Given the description of an element on the screen output the (x, y) to click on. 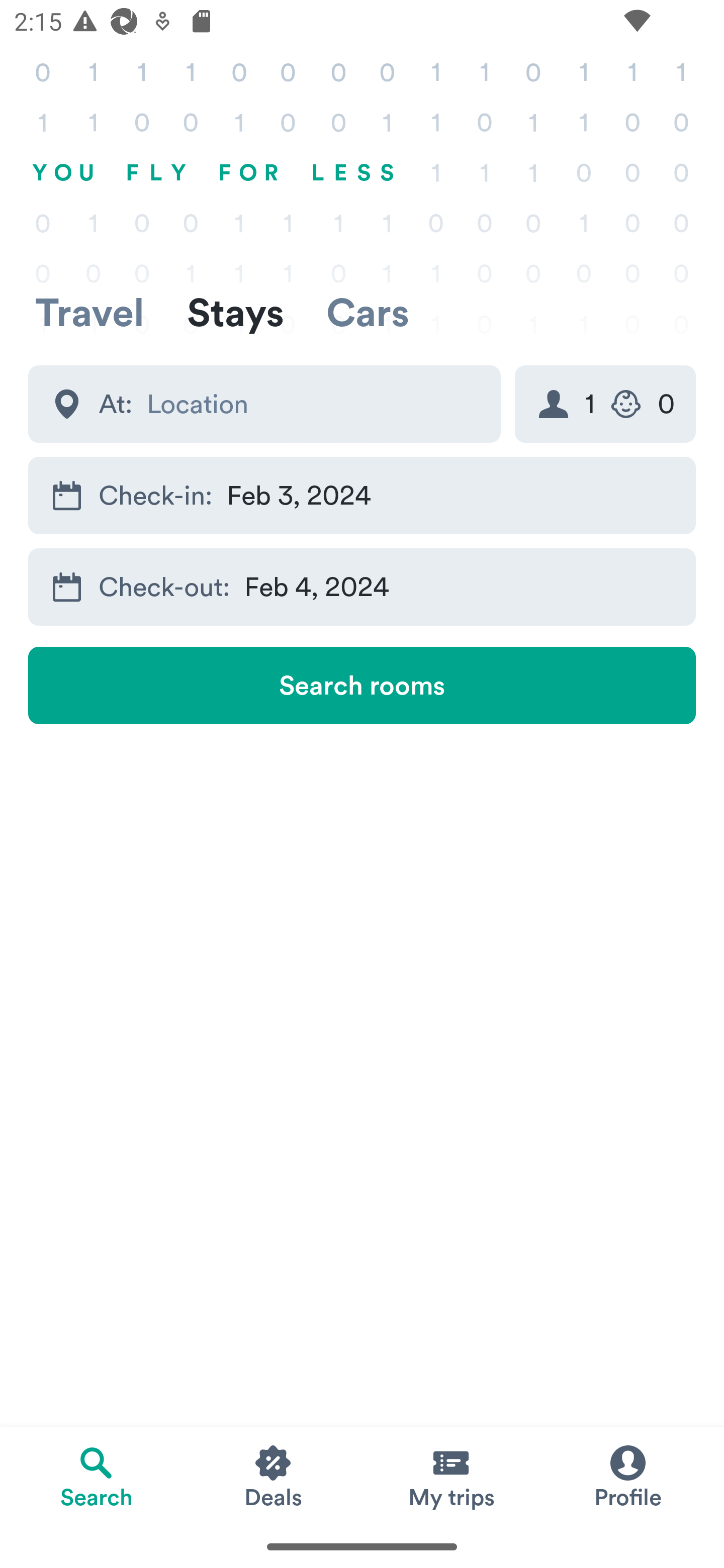
Travel (89, 311)
Stays (235, 311)
Cars (367, 311)
At: (264, 404)
1 0 (604, 404)
Check-in: Feb 3, 2024 (361, 495)
Check-out: Feb 4, 2024 (361, 586)
Search rooms (361, 684)
Deals (273, 1475)
My trips (450, 1475)
Profile (627, 1475)
